Given the description of an element on the screen output the (x, y) to click on. 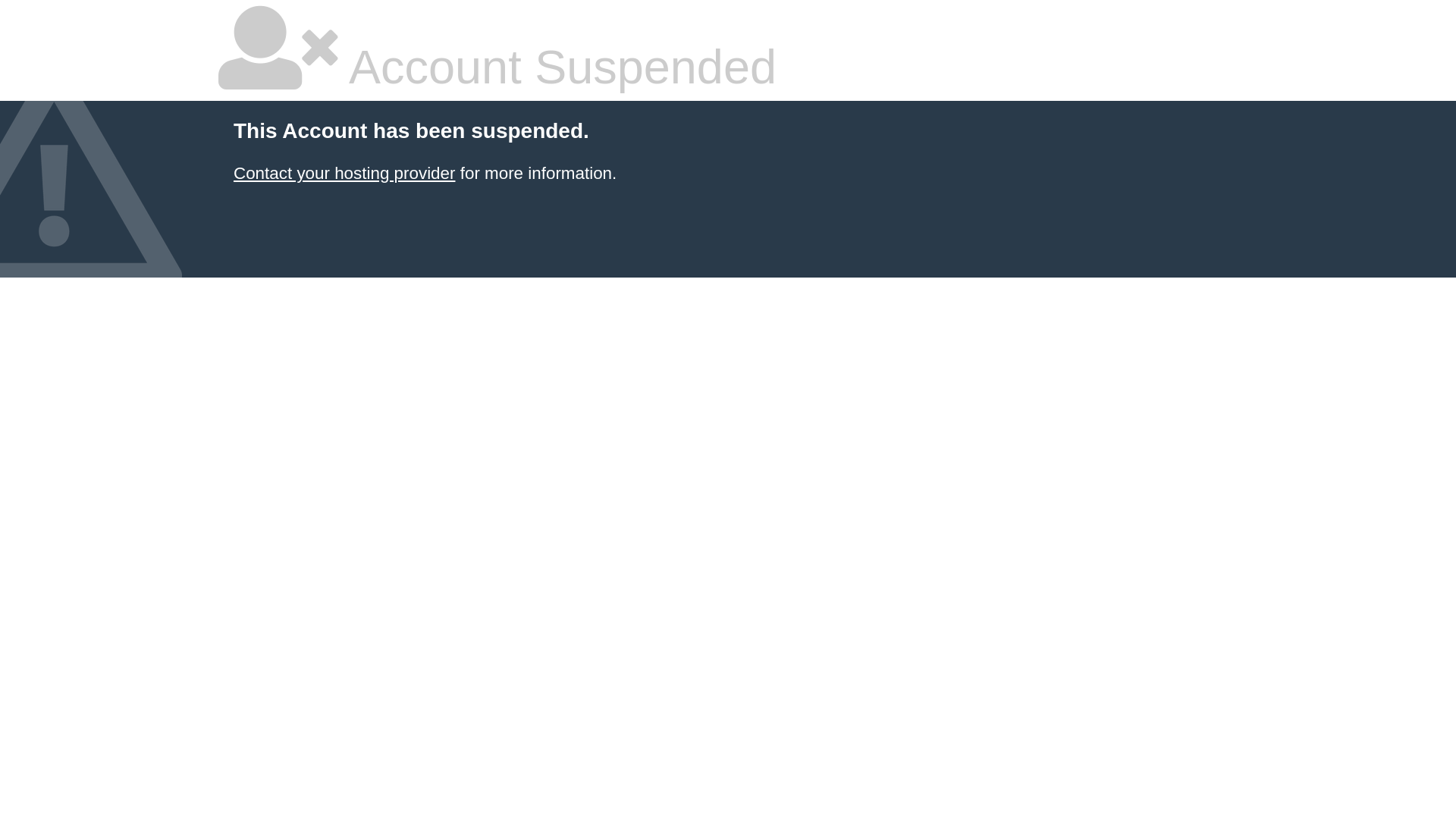
Contact your hosting provider Element type: text (344, 172)
